Given the description of an element on the screen output the (x, y) to click on. 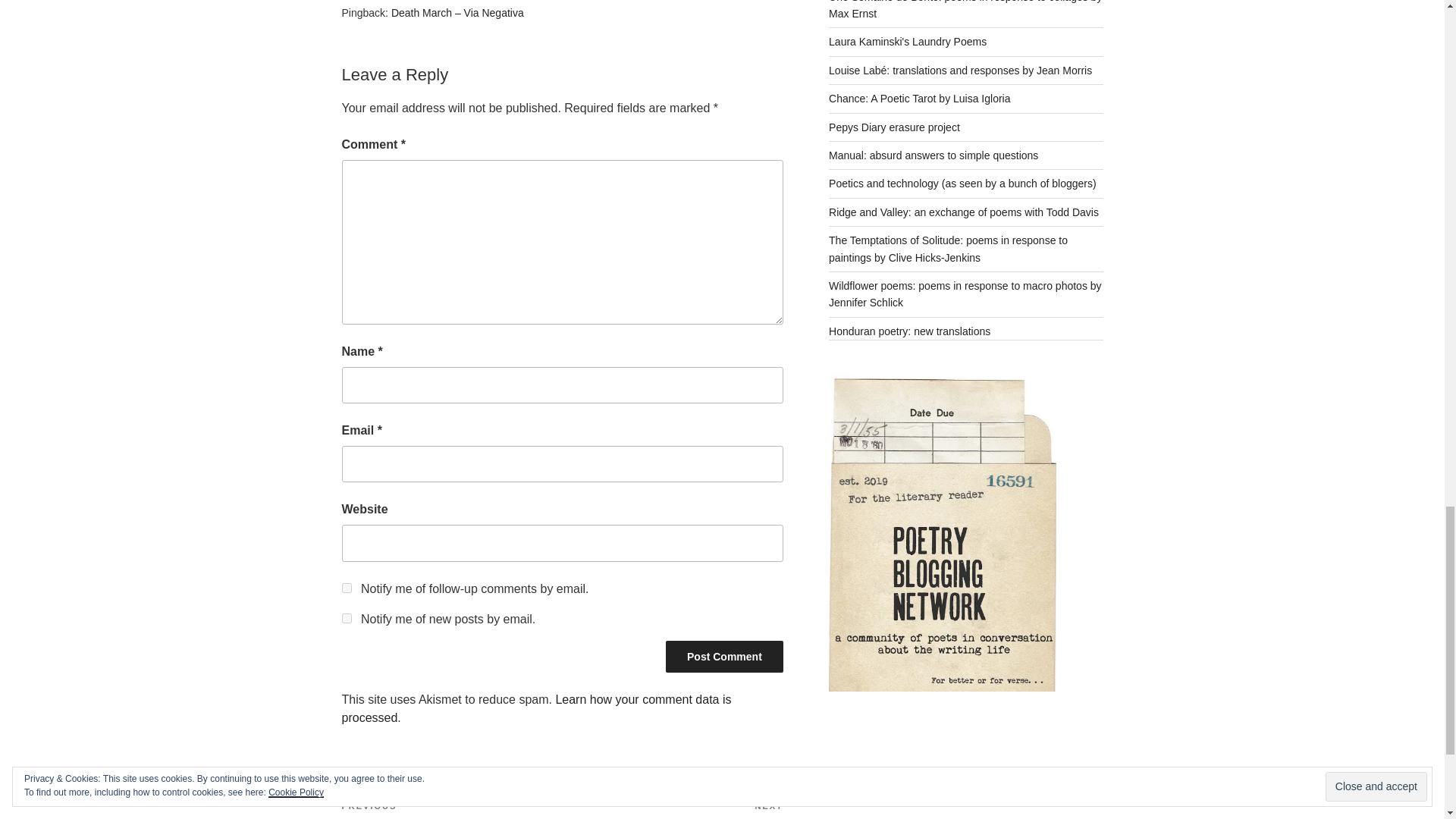
Learn how your comment data is processed (535, 707)
subscribe (451, 809)
subscribe (345, 587)
Post Comment (345, 618)
Post Comment (672, 809)
